Given the description of an element on the screen output the (x, y) to click on. 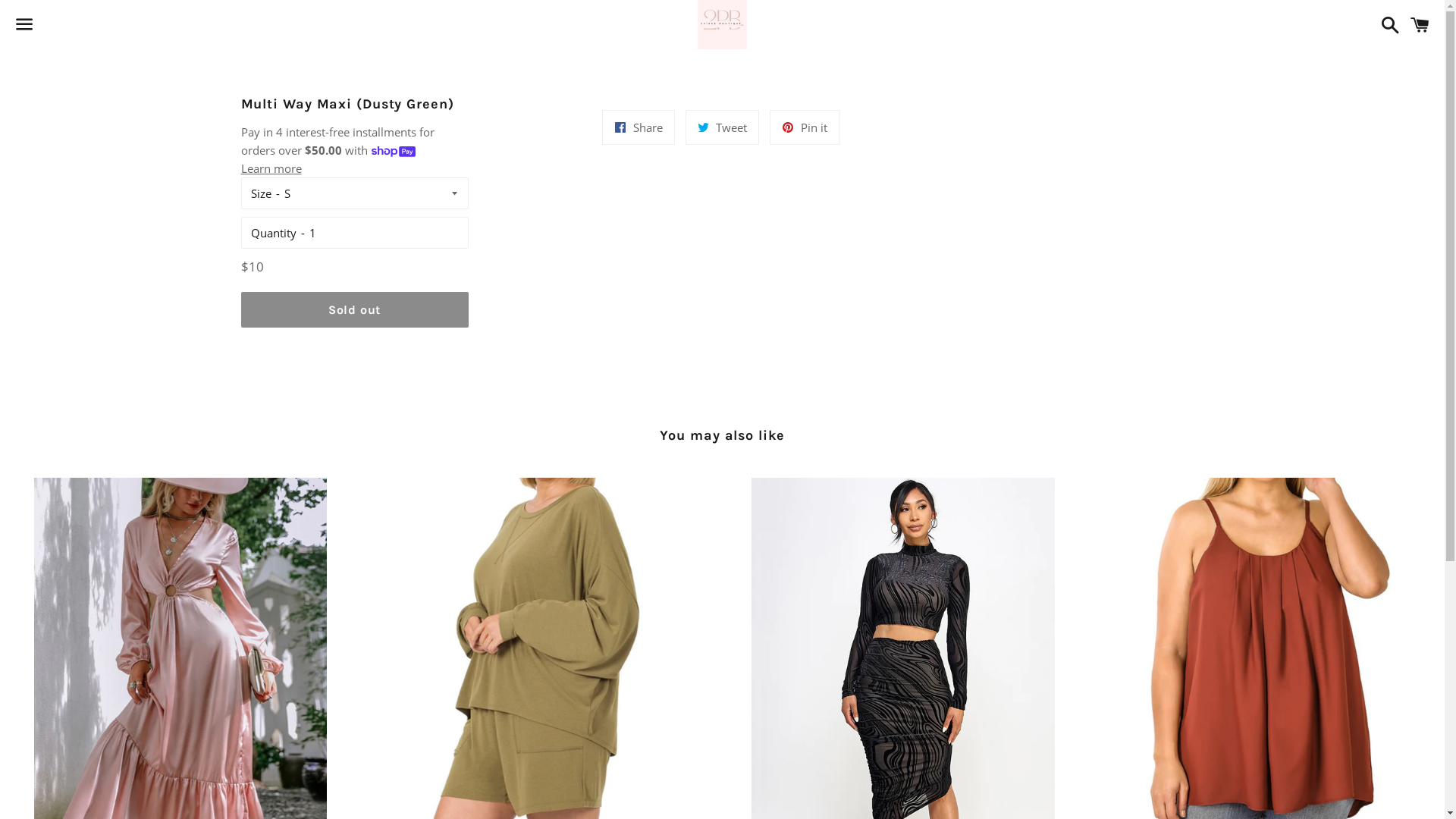
Share
Share on Facebook Element type: text (638, 126)
Tweet
Tweet on Twitter Element type: text (722, 126)
Pin it
Pin on Pinterest Element type: text (804, 126)
Search Element type: text (1386, 24)
Sold out Element type: text (354, 309)
Menu Element type: text (24, 24)
Cart Element type: text (1419, 24)
